Given the description of an element on the screen output the (x, y) to click on. 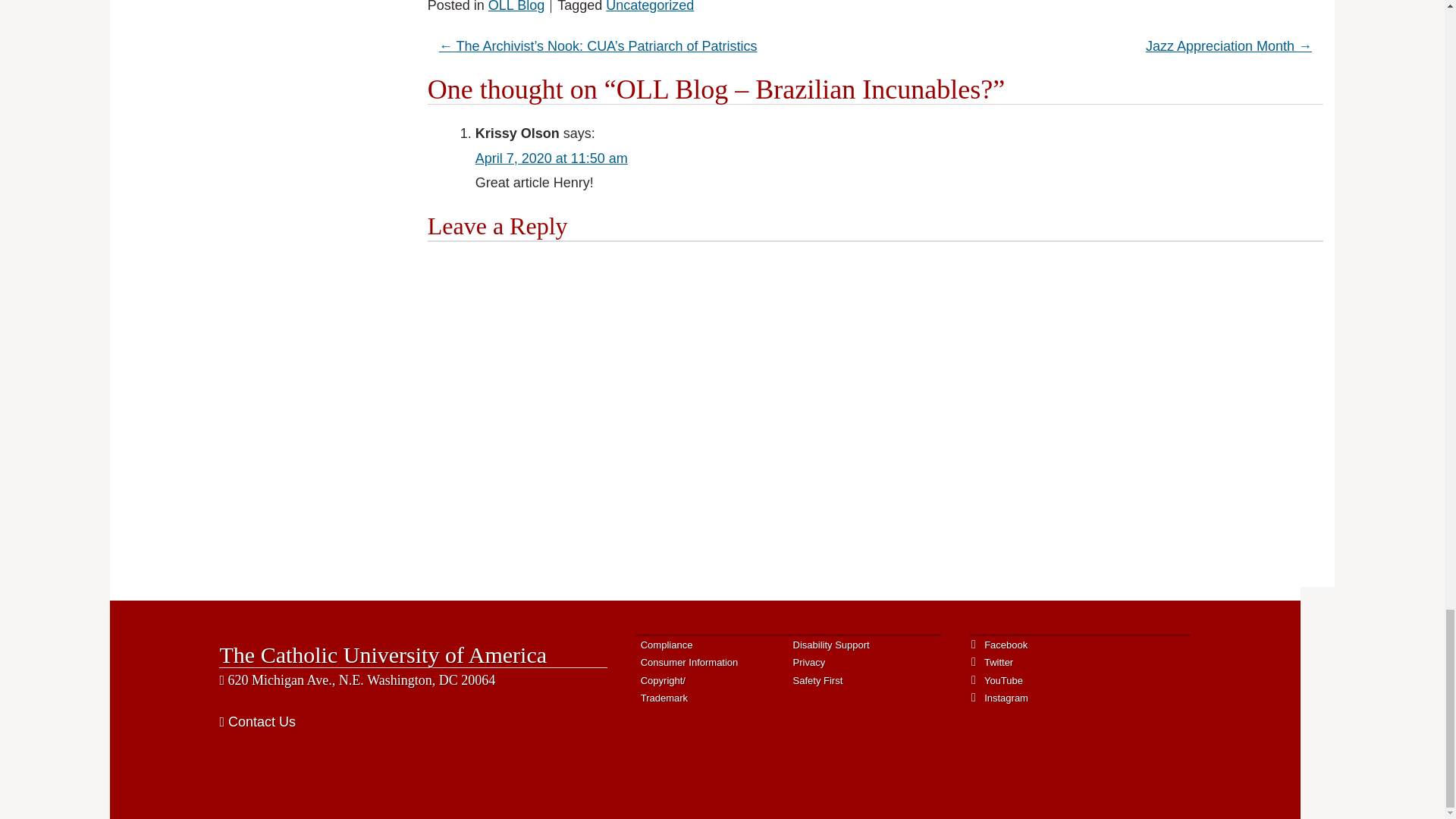
OLL Blog (515, 6)
Uncategorized (649, 6)
April 7, 2020 at 11:50 am (551, 158)
